Given the description of an element on the screen output the (x, y) to click on. 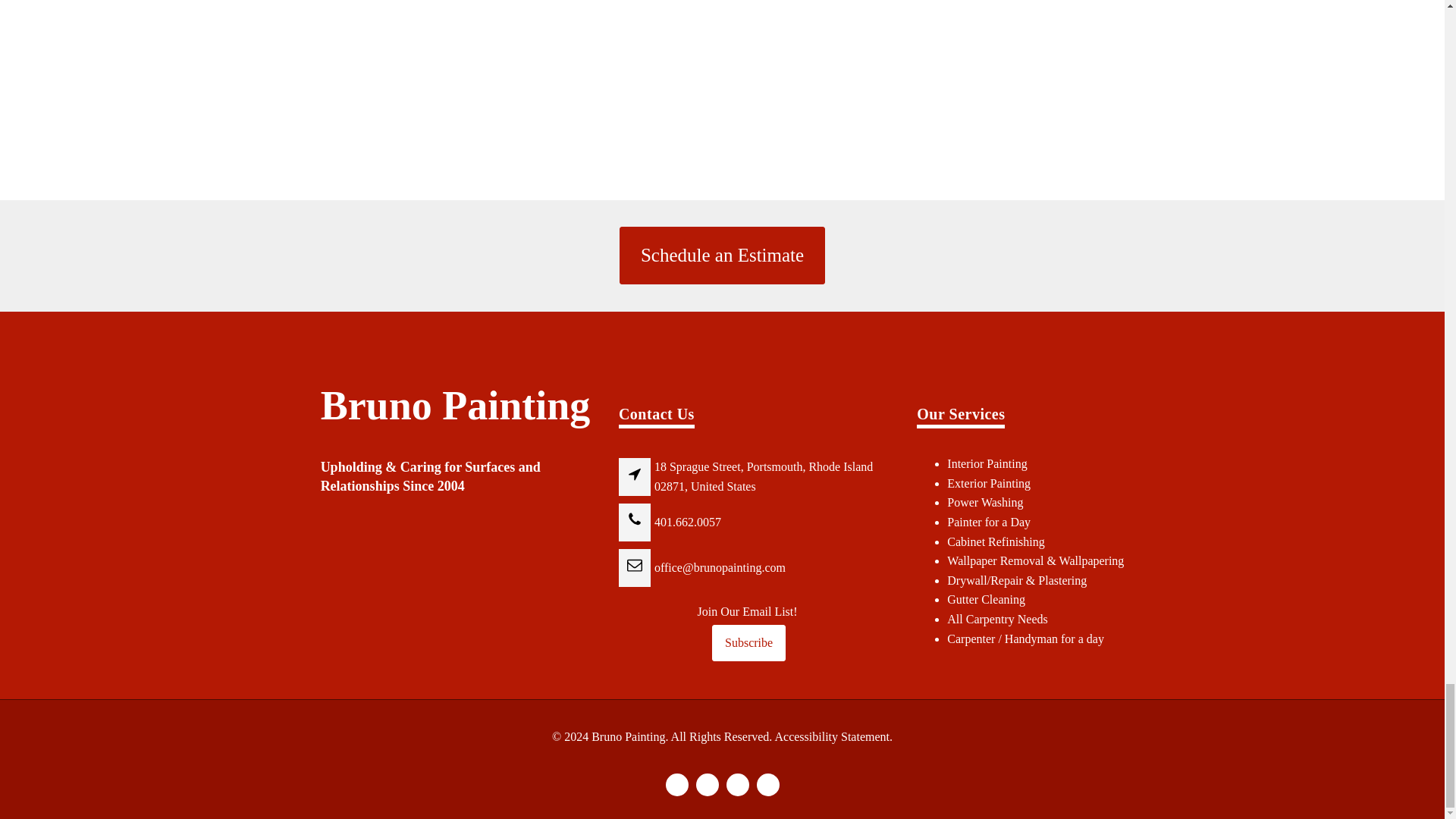
Accessibility Statement (831, 736)
Interior Painting (986, 463)
Schedule an Estimate (722, 255)
Power Washing (985, 502)
All Carpentry Needs (996, 618)
Exterior Painting (988, 482)
Subscribe (748, 642)
401.662.0057 (687, 522)
